Given the description of an element on the screen output the (x, y) to click on. 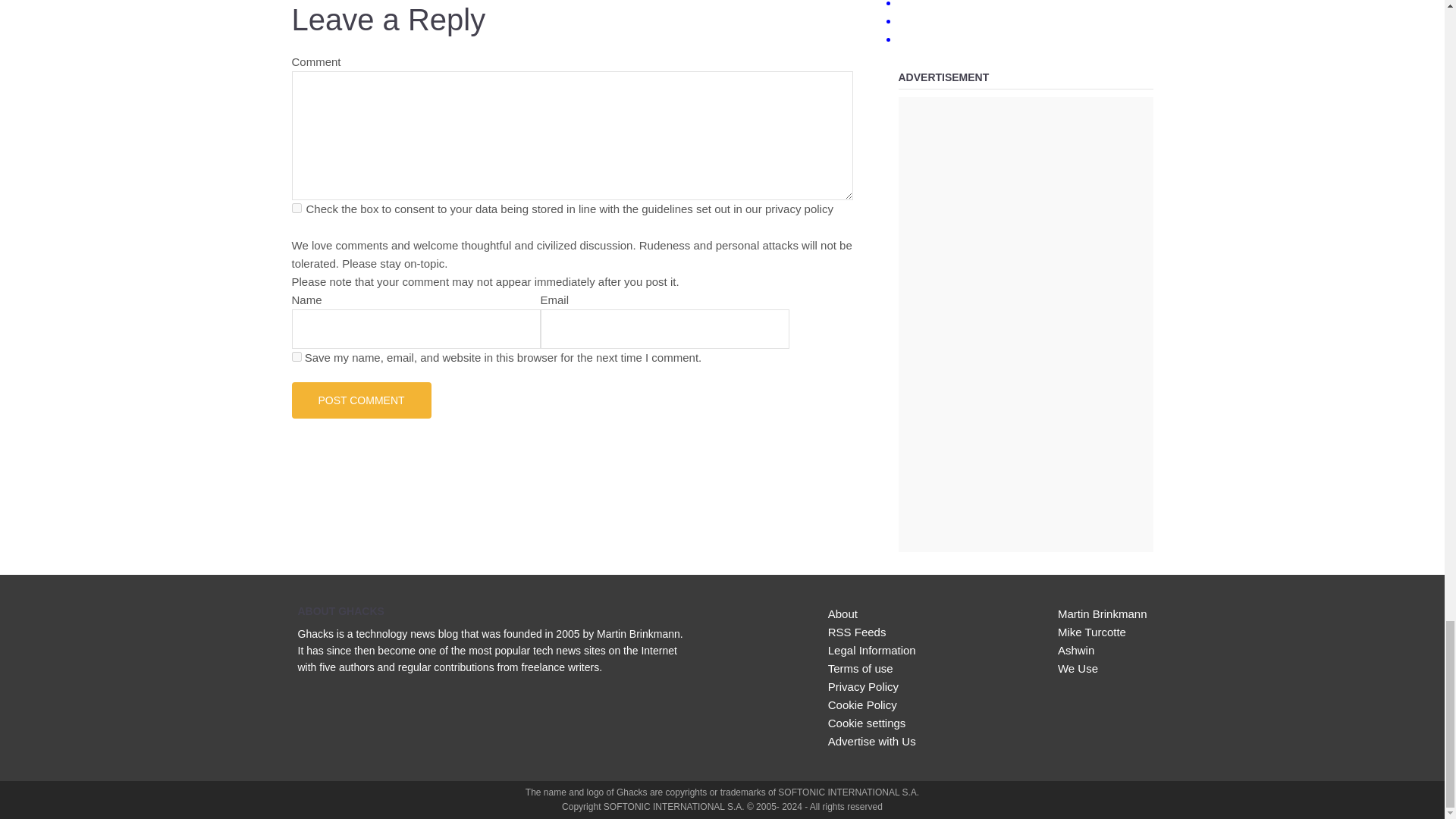
yes (296, 356)
privacy-key (296, 207)
Post Comment (360, 400)
